Given the description of an element on the screen output the (x, y) to click on. 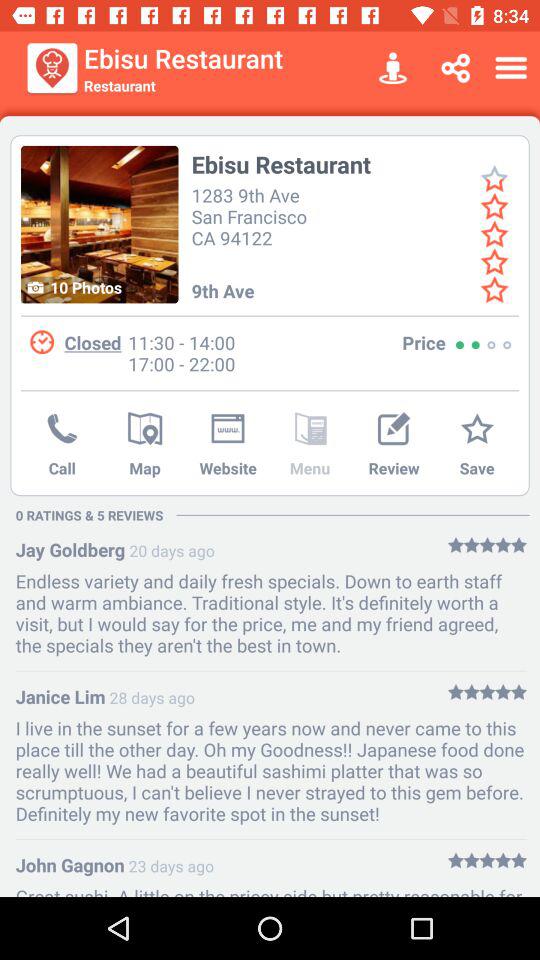
launch the item to the left of the ebisu restaurant item (52, 67)
